Given the description of an element on the screen output the (x, y) to click on. 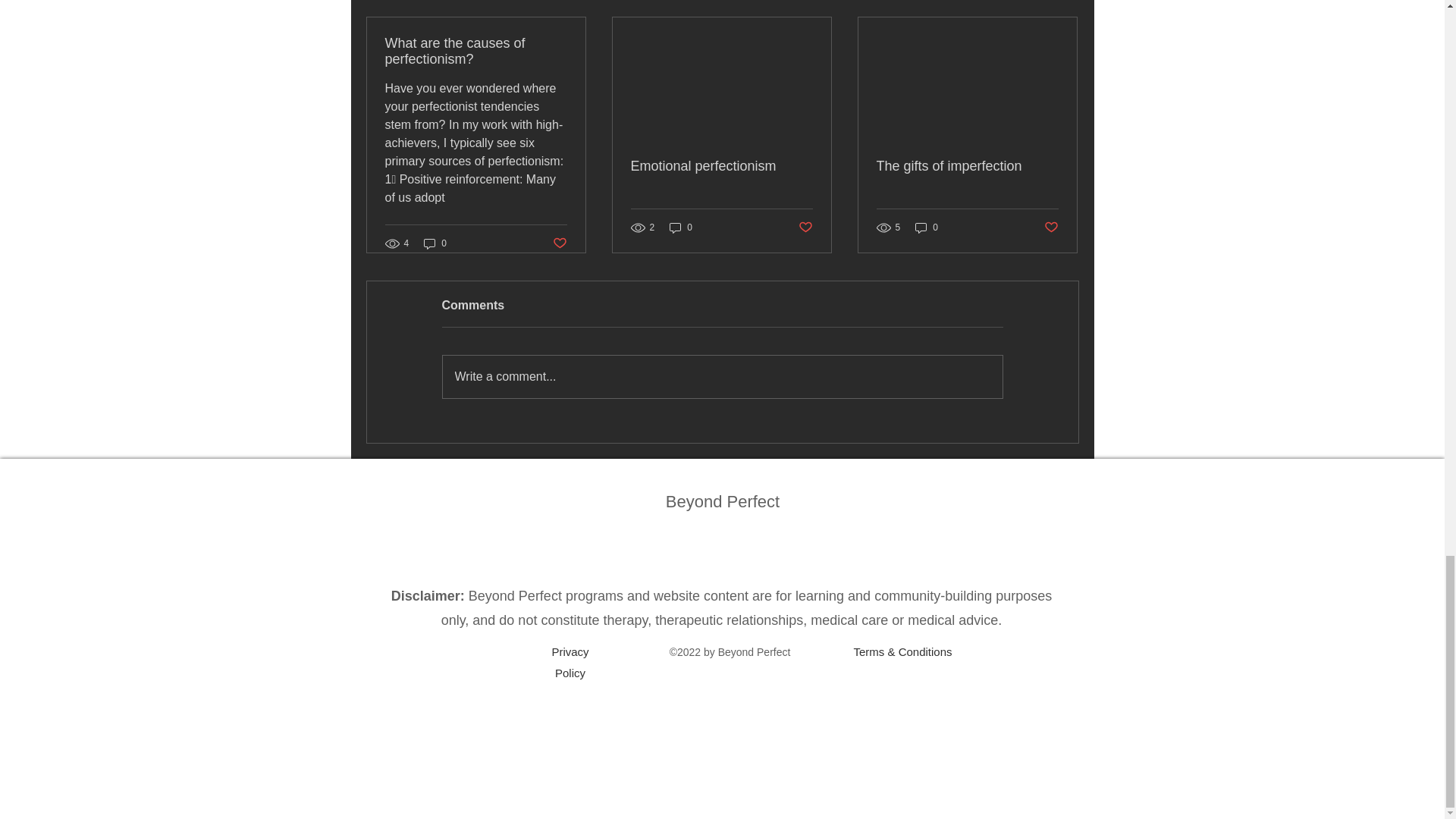
See All (1061, 0)
0 (681, 227)
Write a comment... (722, 376)
Post not marked as liked (804, 227)
The gifts of imperfection (967, 166)
0 (926, 227)
Post not marked as liked (1050, 227)
Emotional perfectionism (721, 166)
Post not marked as liked (558, 243)
Privacy Policy (569, 662)
0 (435, 242)
What are the causes of perfectionism? (476, 51)
